Given the description of an element on the screen output the (x, y) to click on. 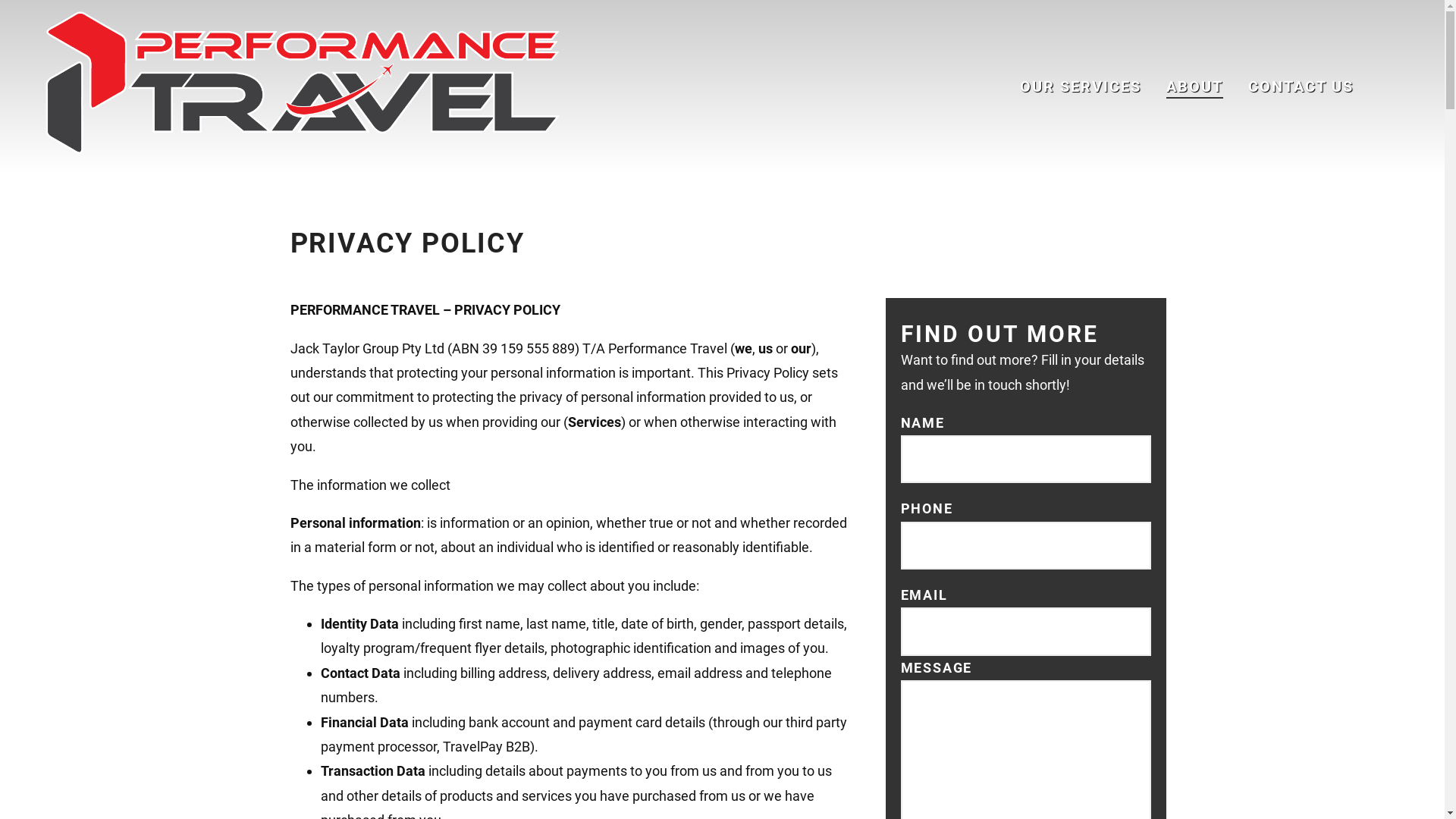
Terms & Conditions Element type: text (1186, 641)
Contact Us Element type: text (1205, 665)
CONTACT US Element type: text (1300, 86)
upstream Element type: text (157, 786)
OUR SERVICES Element type: text (1080, 86)
Privacy Policy Element type: text (1199, 617)
ABOUT Element type: text (1194, 86)
admin@performance.travel Element type: text (509, 665)
